Given the description of an element on the screen output the (x, y) to click on. 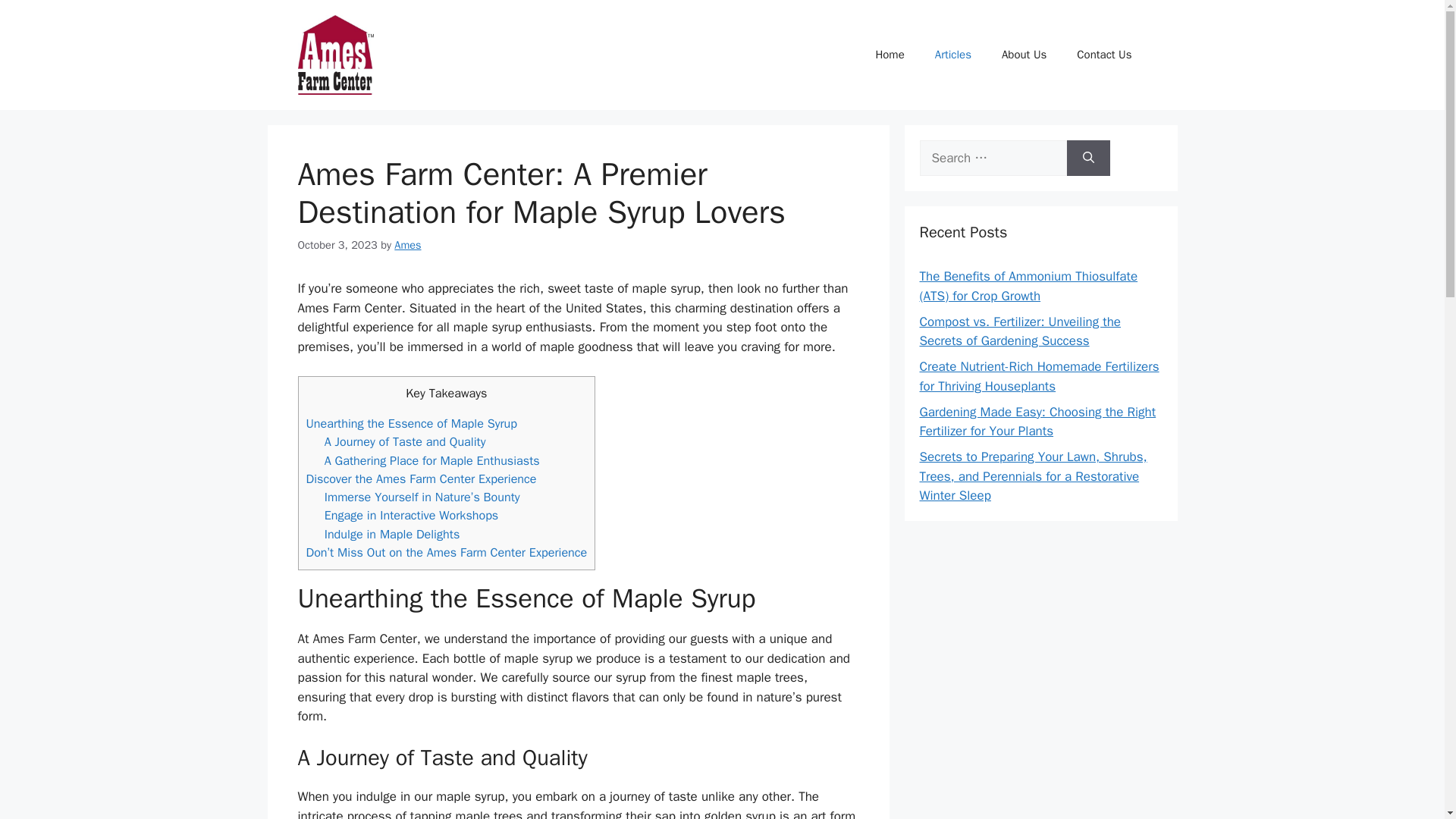
View all posts by Ames (407, 244)
Engage in Interactive Workshops (411, 514)
Search for: (991, 158)
Indulge in Maple Delights (392, 534)
Discover the Ames Farm Center Experience (421, 478)
Ames (407, 244)
About Us (1024, 53)
A Gathering Place for Maple Enthusiasts (432, 460)
A Journey of Taste and Quality (405, 441)
Home (889, 53)
Contact Us (1104, 53)
Unearthing the Essence of Maple Syrup (411, 423)
